Given the description of an element on the screen output the (x, y) to click on. 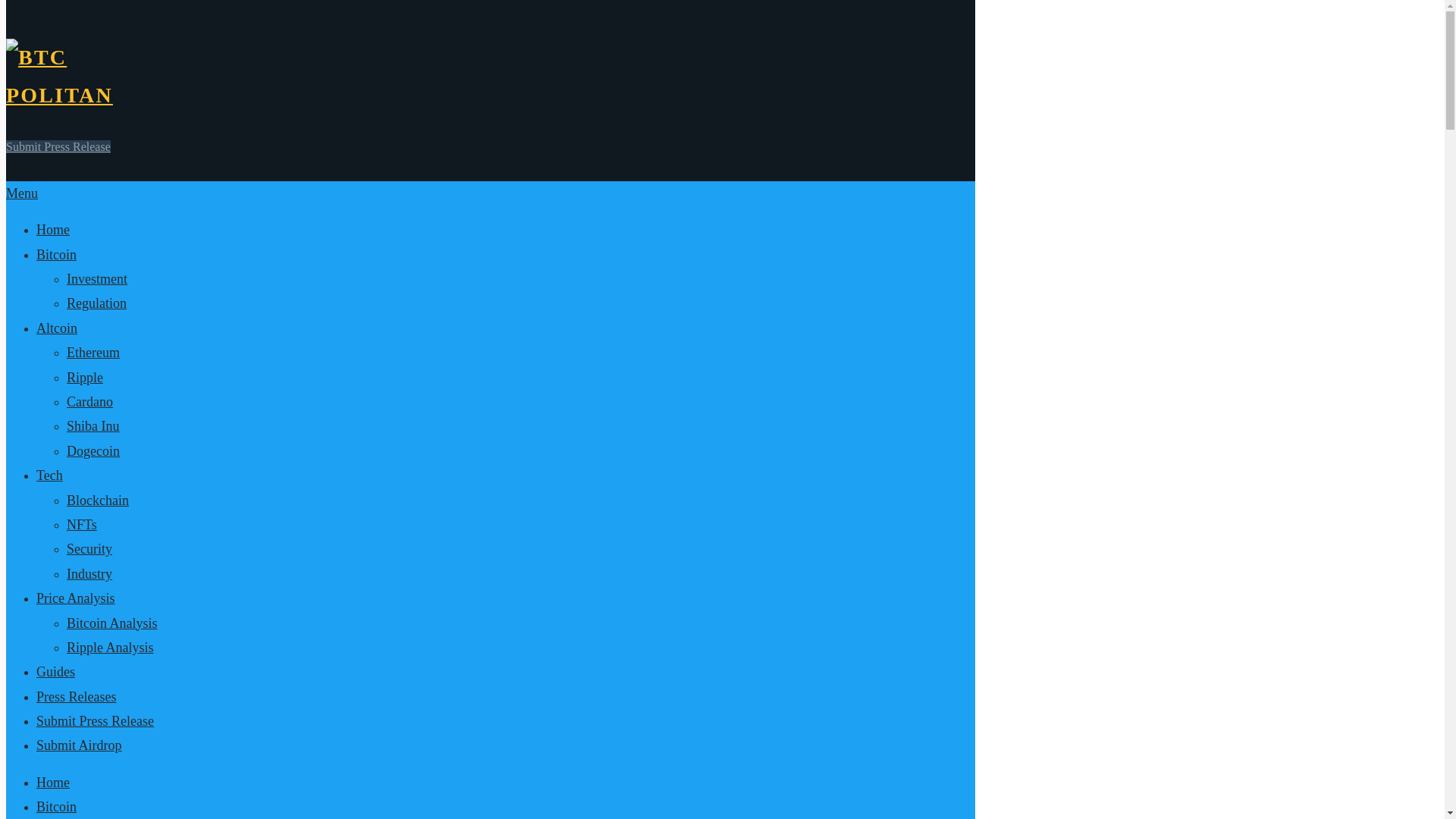
Press Releases (76, 696)
Regulation (96, 303)
Altcoin (56, 328)
NFTs (81, 524)
Bitcoin Analysis (111, 622)
Bitcoin (56, 254)
Ethereum (92, 352)
Dogecoin (92, 450)
Security (89, 548)
Industry (89, 573)
